Given the description of an element on the screen output the (x, y) to click on. 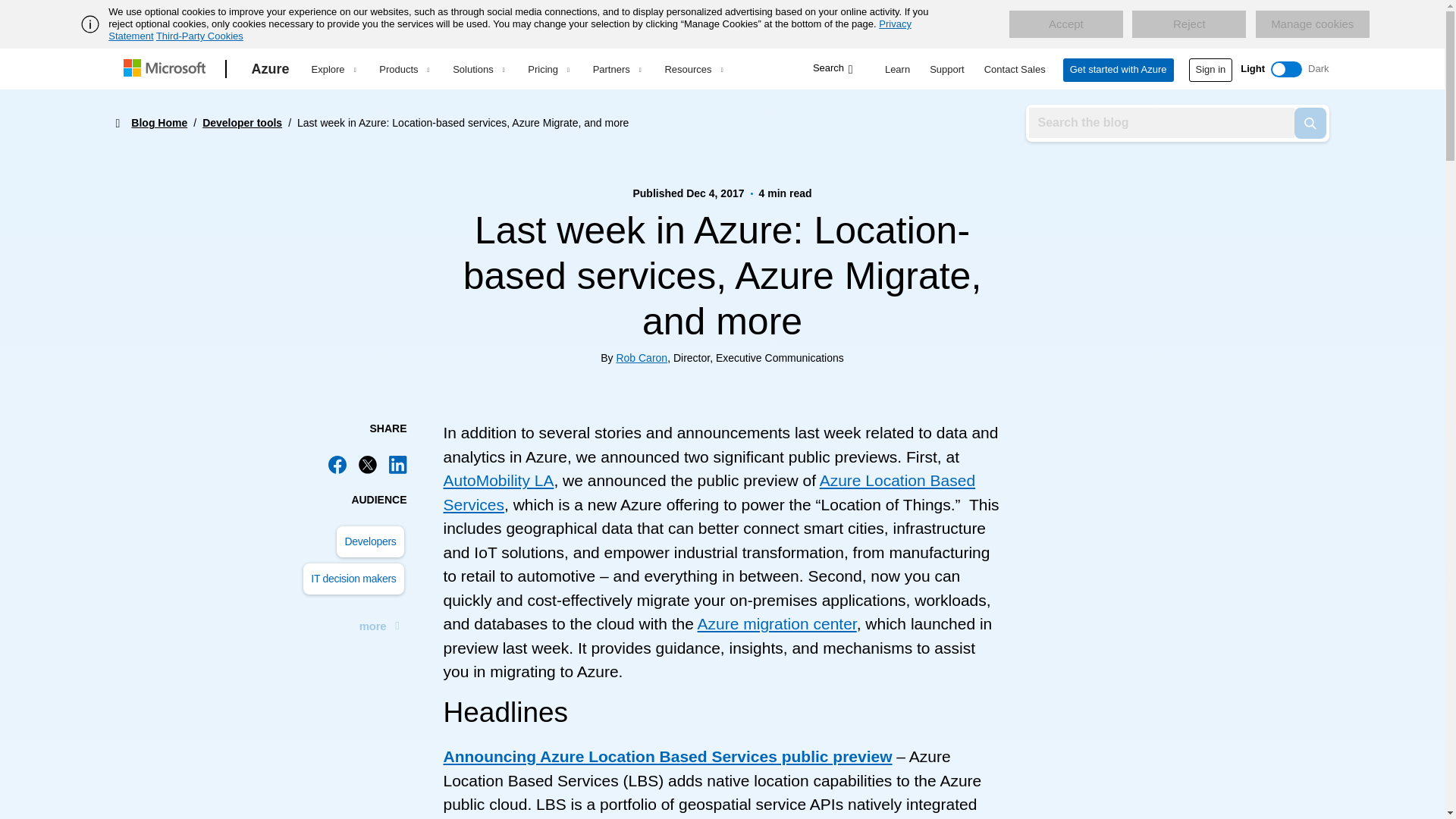
Products (403, 69)
Third-Party Cookies (199, 35)
Explore (333, 69)
Accept (1065, 23)
Azure (270, 69)
Manage cookies (1312, 23)
Reject (1189, 23)
Microsoft (167, 69)
Privacy Statement (509, 29)
